Given the description of an element on the screen output the (x, y) to click on. 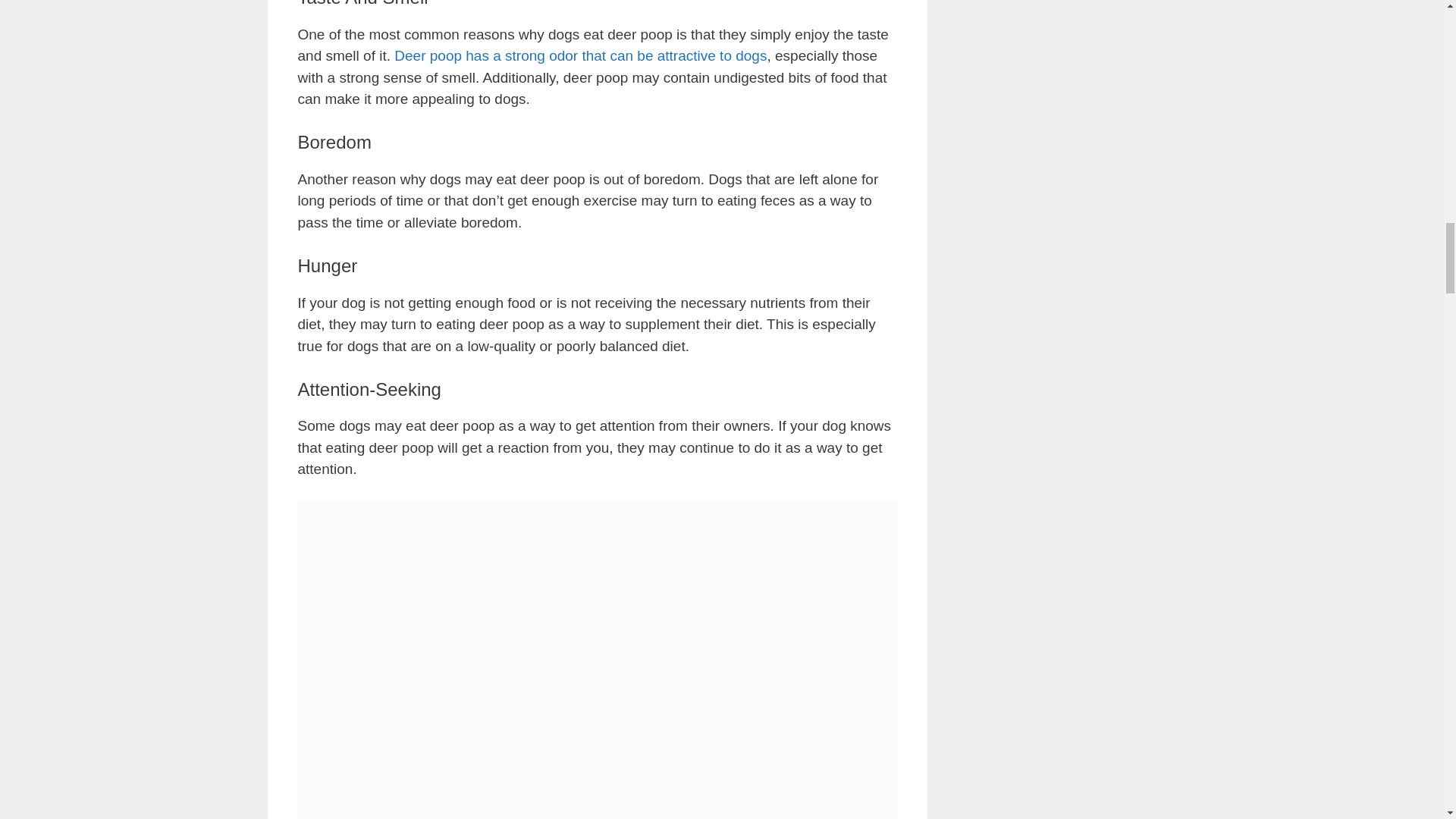
Deer poop has a strong odor that can be attractive to dogs (580, 55)
